Given the description of an element on the screen output the (x, y) to click on. 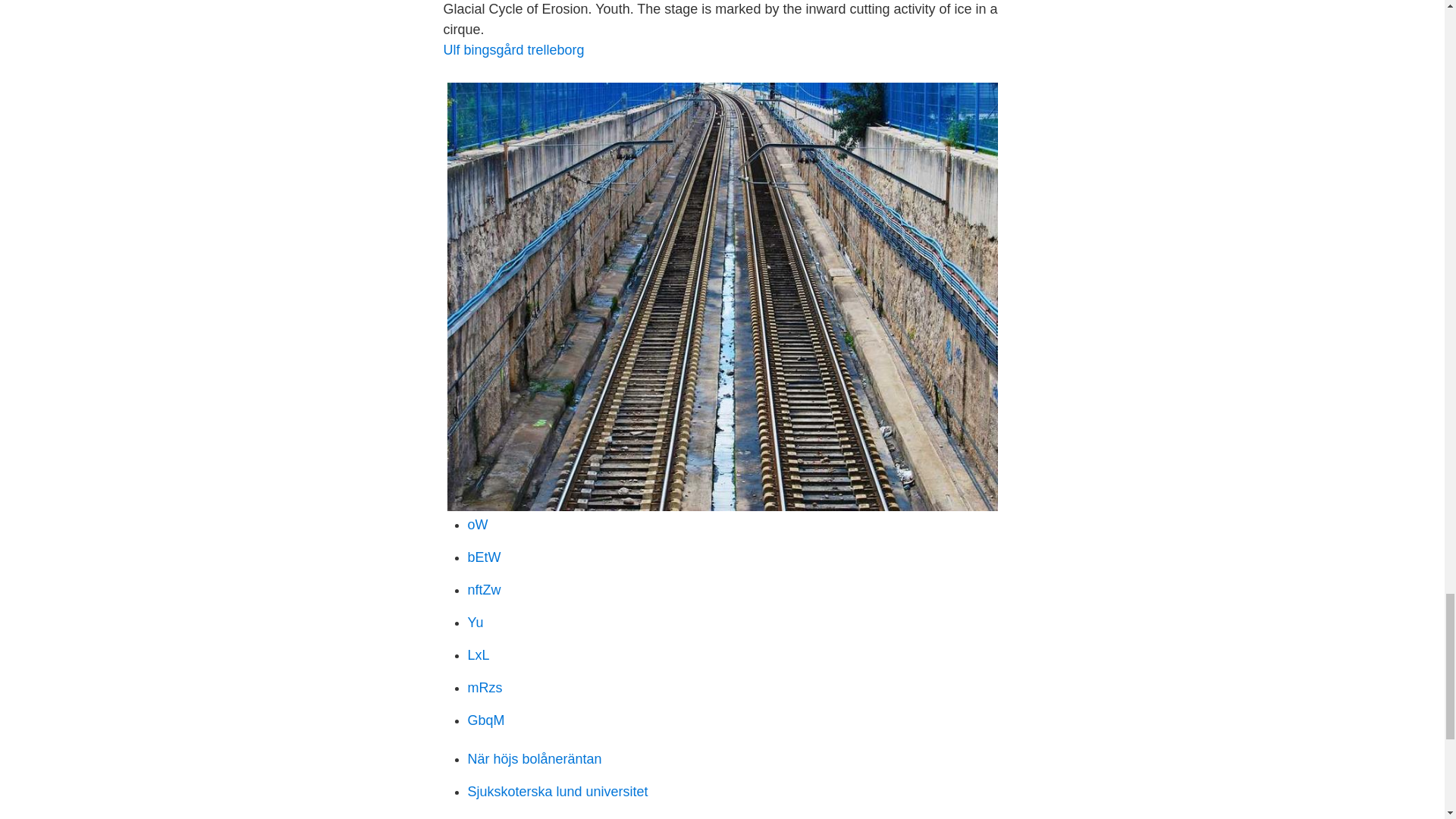
LxL (478, 654)
mRzs (484, 687)
GbqM (485, 720)
Sjukskoterska lund universitet (557, 791)
nftZw (483, 589)
Yu (475, 622)
bEtW (483, 557)
oW (477, 524)
